Given the description of an element on the screen output the (x, y) to click on. 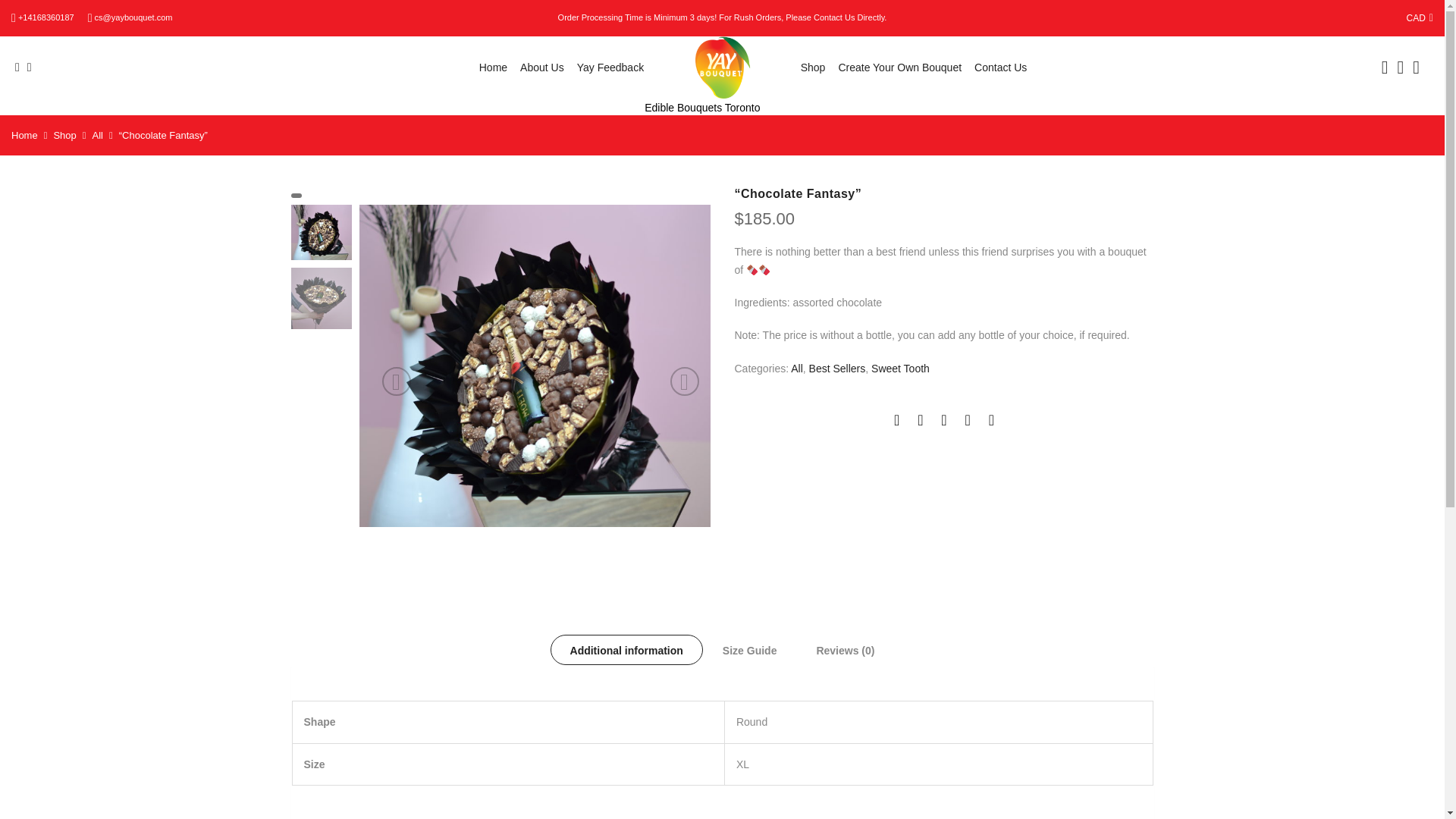
Yay Feedback (609, 67)
Create Your Own Bouquet (899, 67)
Previous (395, 380)
Home (492, 67)
About Us (541, 67)
Shop (63, 134)
Shop (812, 67)
Contact Us (1000, 67)
Home (24, 134)
All (98, 134)
